Given the description of an element on the screen output the (x, y) to click on. 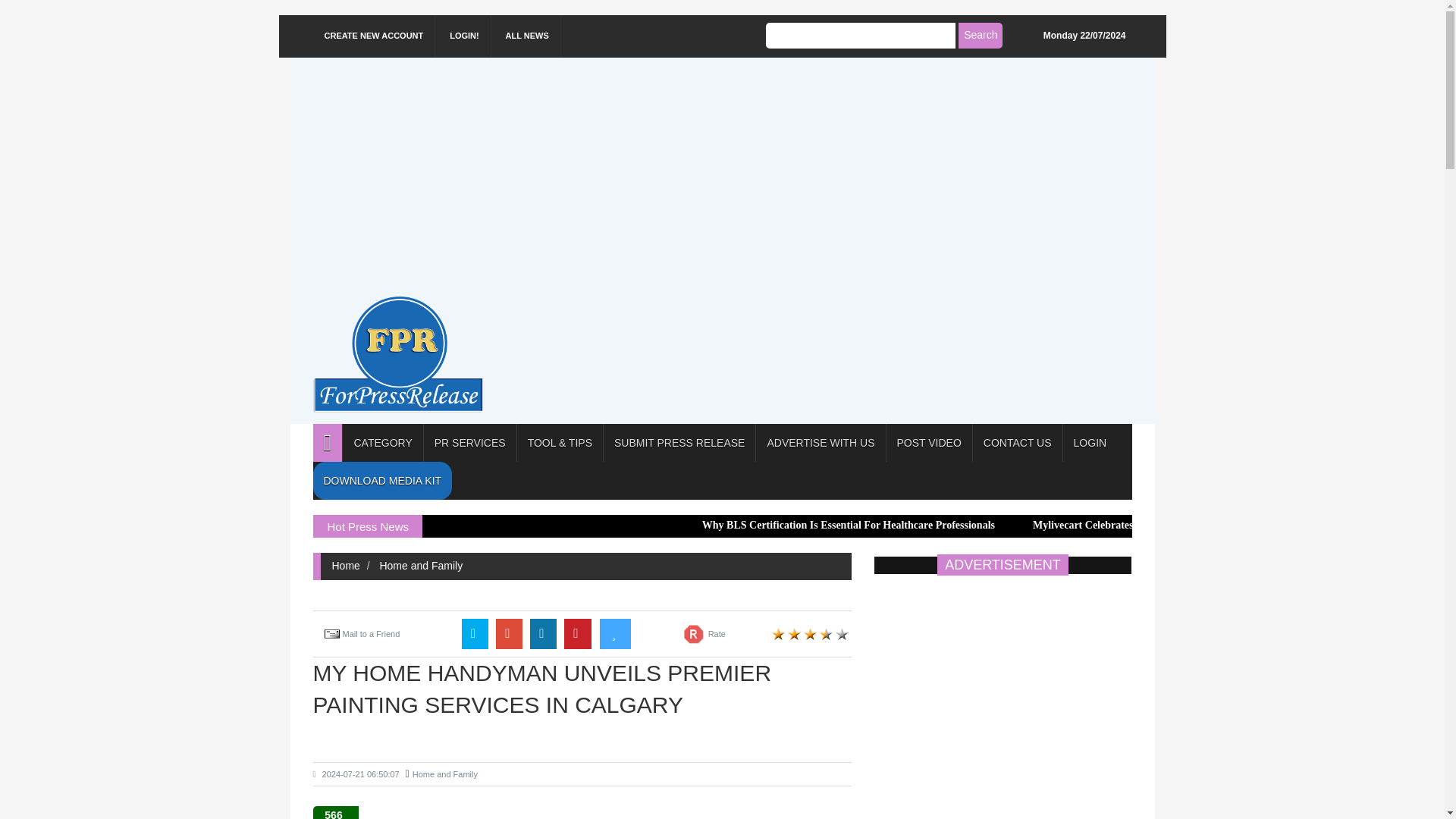
Mylivecart Celebrates a Year of Innovation and Excellence (1165, 524)
PR SERVICES (469, 442)
ADVERTISE WITH US (820, 442)
CONTACT US (1017, 442)
LOGIN! (465, 36)
CATEGORY (382, 442)
LOGIN (1090, 442)
Search (980, 35)
CREATE NEW ACCOUNT (374, 36)
ALL NEWS (527, 36)
POST VIDEO (928, 442)
Search (980, 35)
SUBMIT PRESS RELEASE (678, 442)
